Given the description of an element on the screen output the (x, y) to click on. 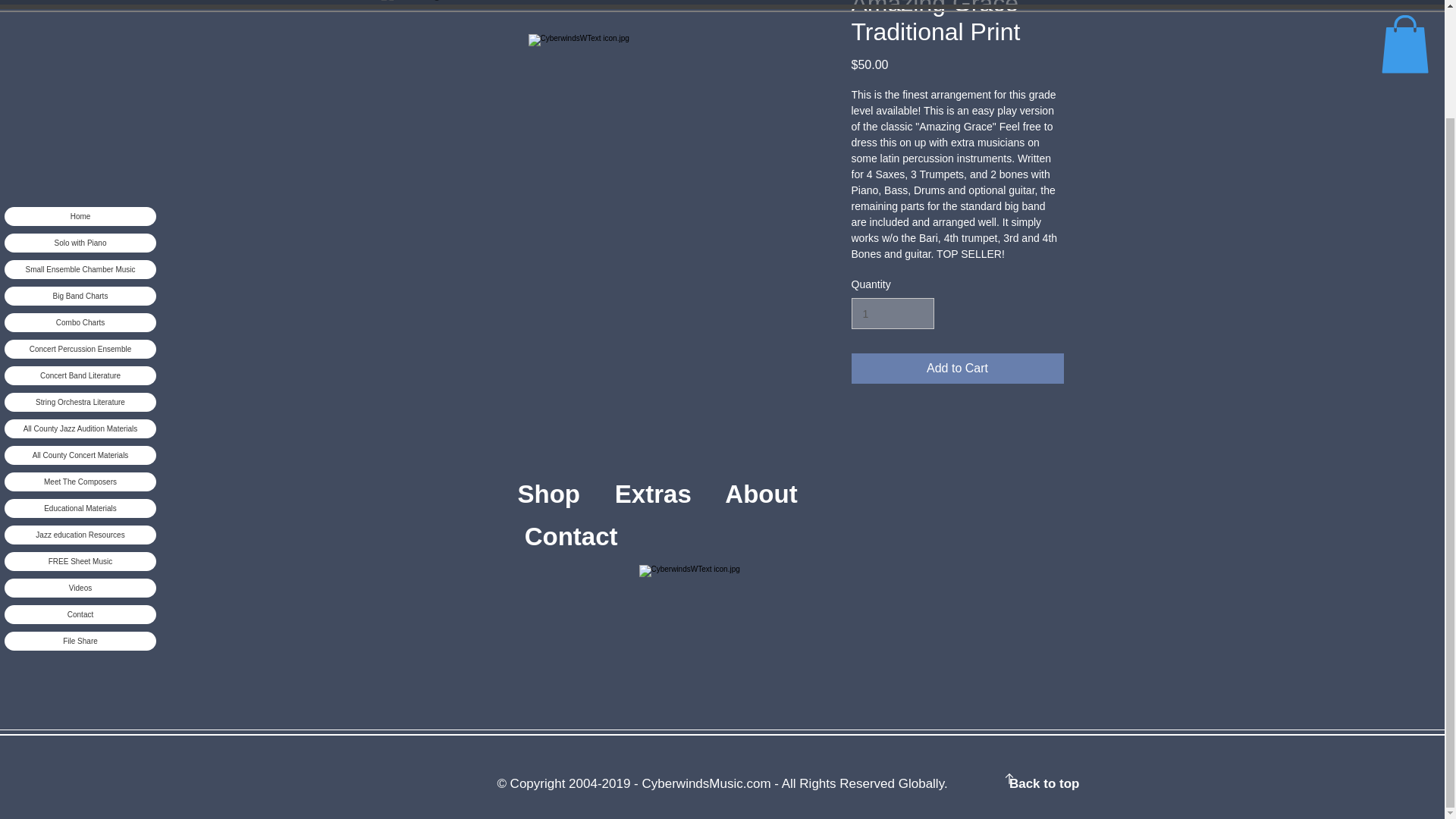
About      (667, 514)
Extras      (669, 493)
File Share (79, 512)
Contact (570, 536)
Educational Materials (79, 380)
Solo with Piano (79, 115)
Small Ensemble Chamber Music (79, 140)
Meet The Composers (79, 353)
All County Concert Materials (79, 327)
String Orchestra Literature (79, 274)
